Given the description of an element on the screen output the (x, y) to click on. 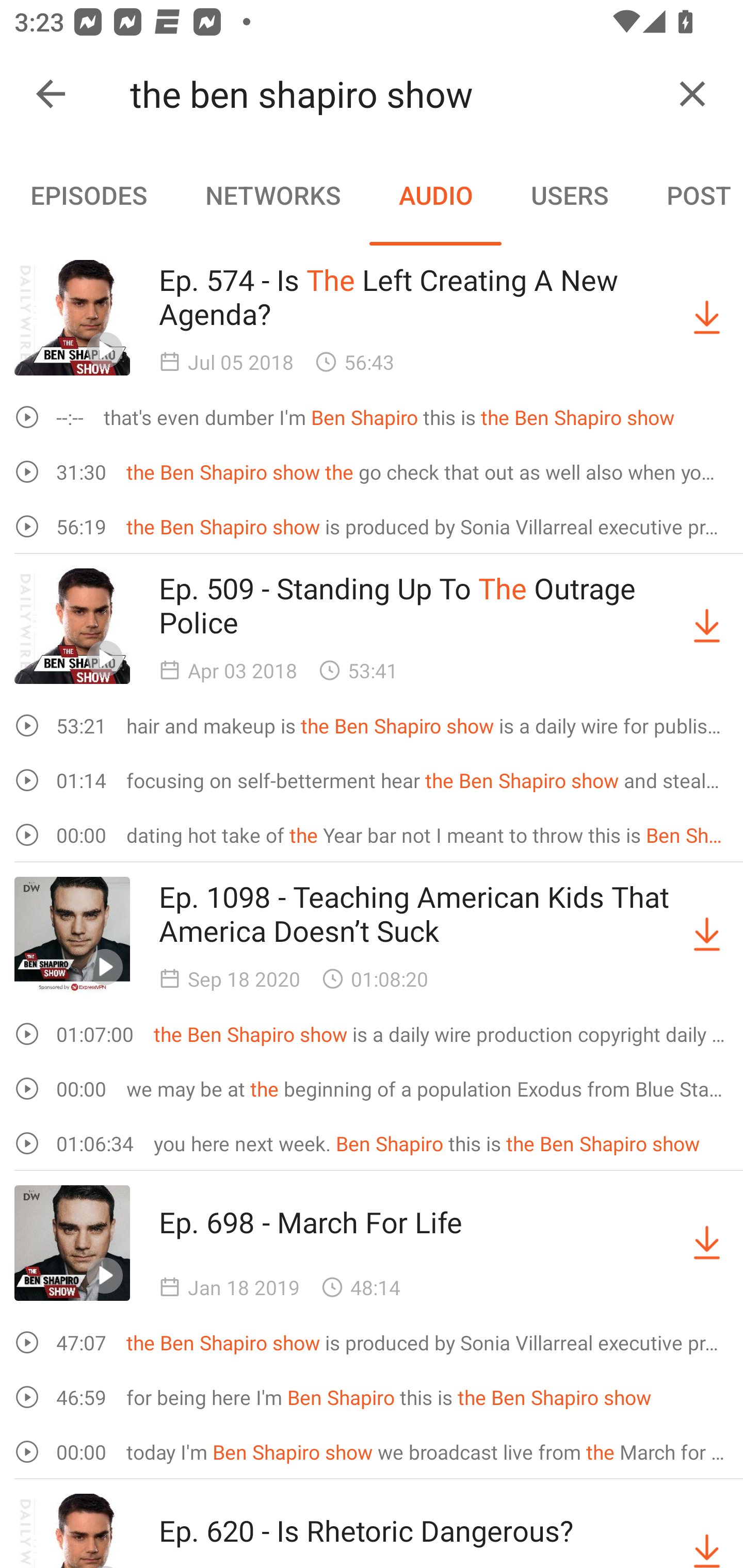
Collapse (50, 93)
Clear query (692, 93)
the ben shapiro show (393, 94)
EPISODES (88, 195)
NETWORKS (272, 195)
AUDIO (435, 195)
USERS (569, 195)
POST (690, 195)
Download (706, 317)
Download (706, 625)
Download (706, 934)
Download (706, 1243)
Download (706, 1531)
